Given the description of an element on the screen output the (x, y) to click on. 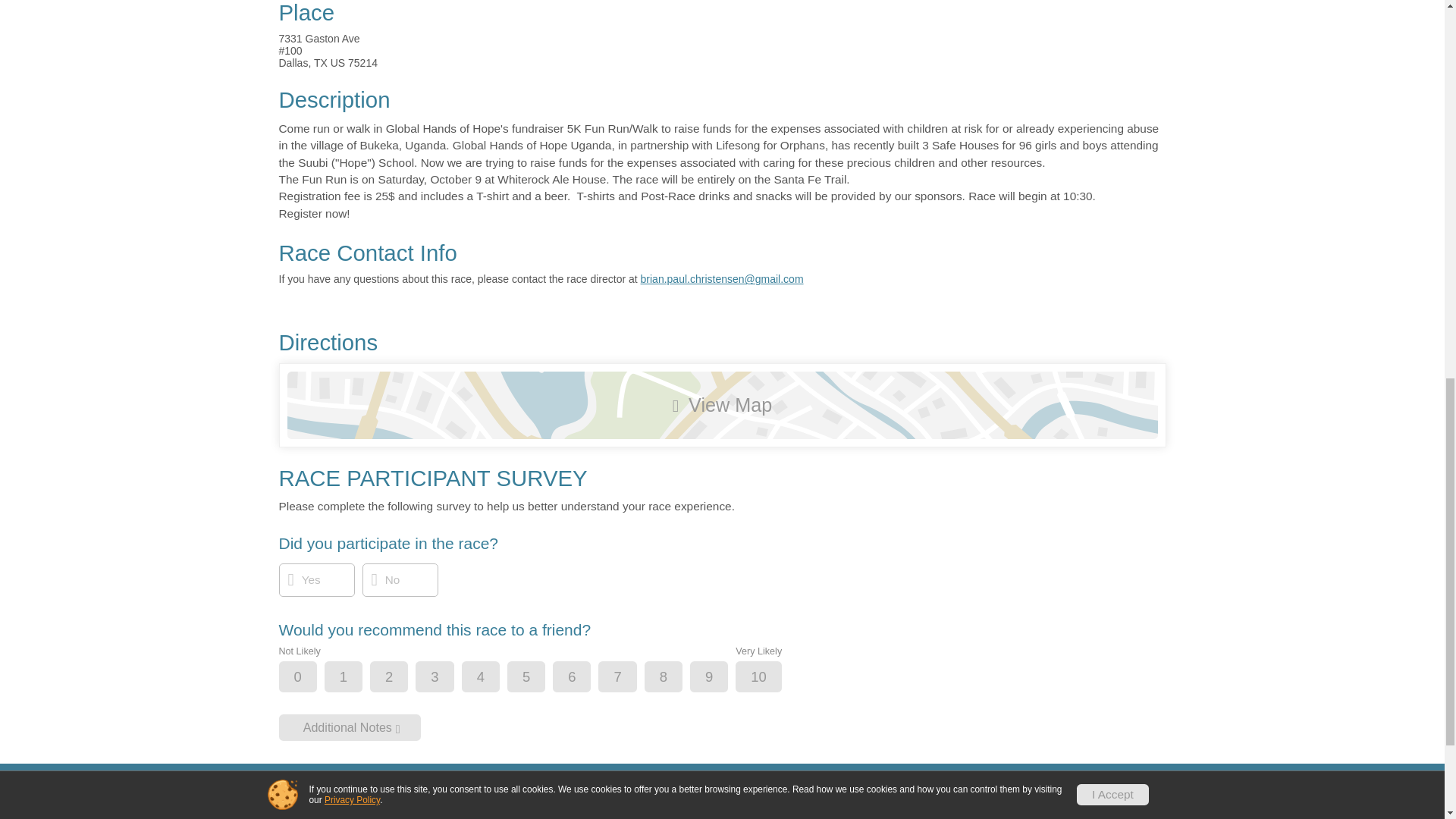
9 (721, 677)
Additional Notes (349, 727)
2 (401, 677)
7 (629, 677)
View Map (721, 404)
8 (675, 677)
10 (770, 677)
3 (447, 677)
6 (584, 677)
1 (355, 677)
Race Info (608, 801)
Find a Participant (1063, 801)
5 (539, 677)
0 (310, 677)
4 (493, 677)
